Given the description of an element on the screen output the (x, y) to click on. 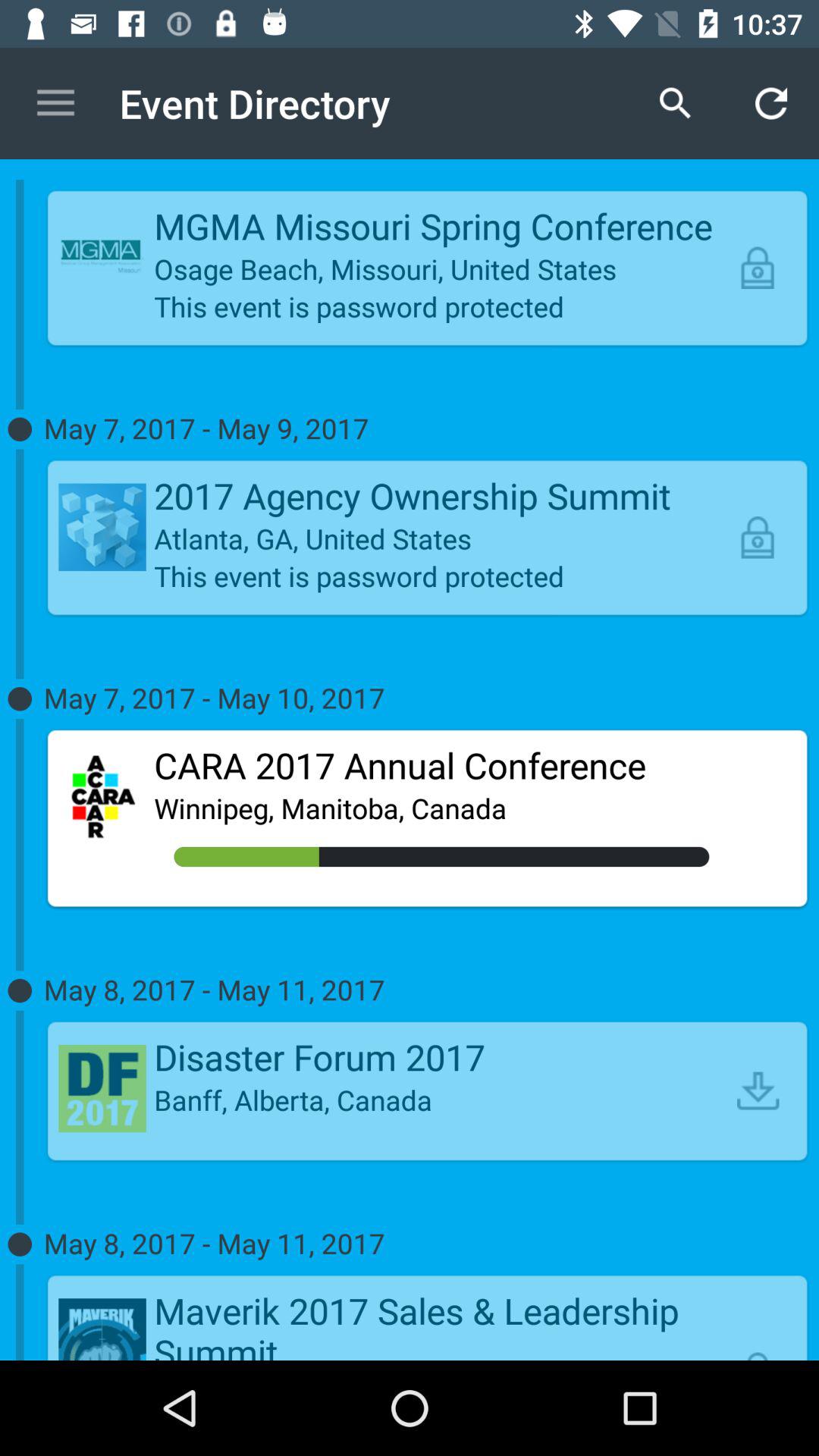
select the item below mgma missouri spring item (441, 268)
